Given the description of an element on the screen output the (x, y) to click on. 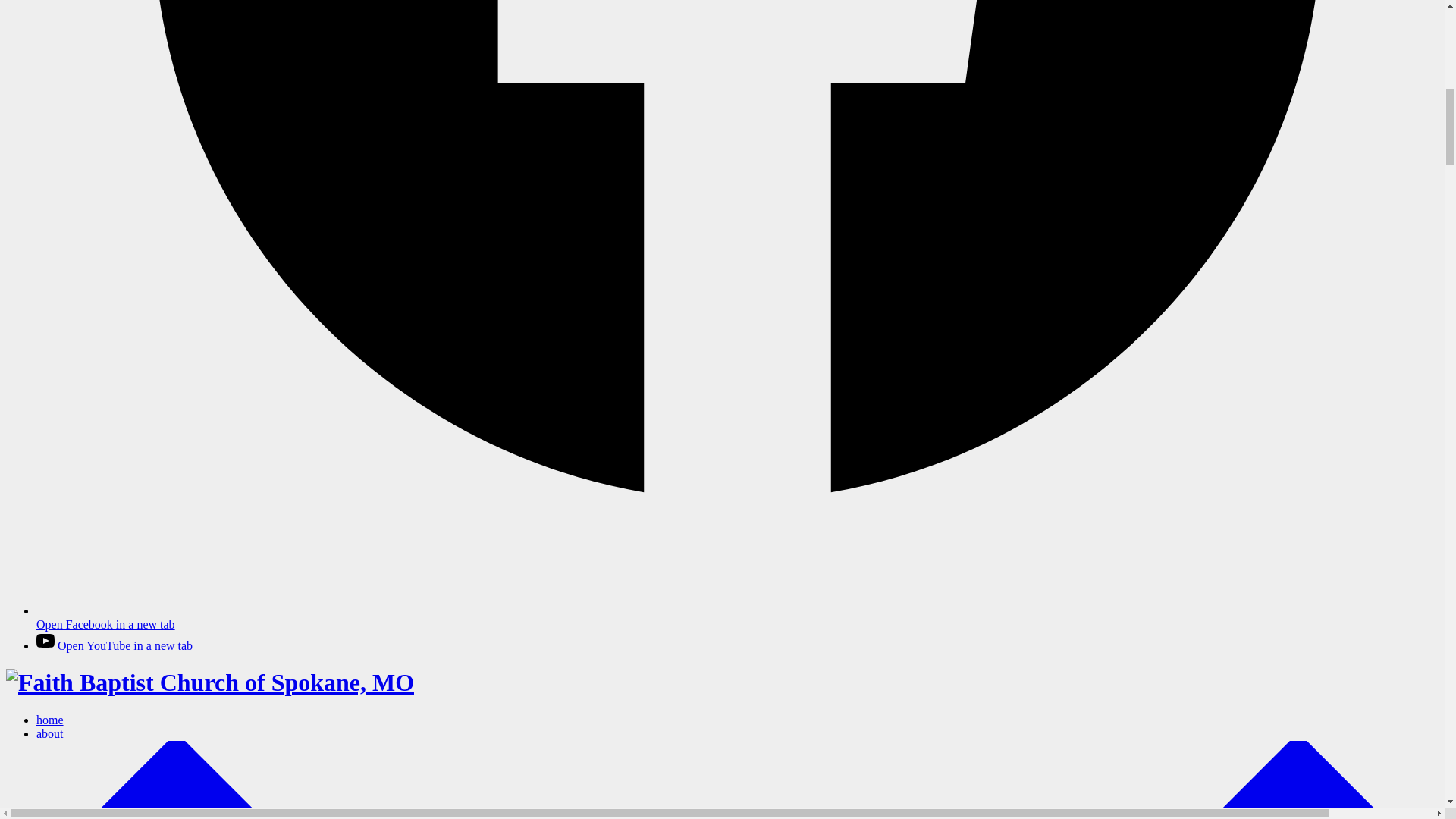
Open Facebook in a new tab (737, 617)
home (50, 719)
Open YouTube in a new tab (114, 645)
about (737, 773)
